Given the description of an element on the screen output the (x, y) to click on. 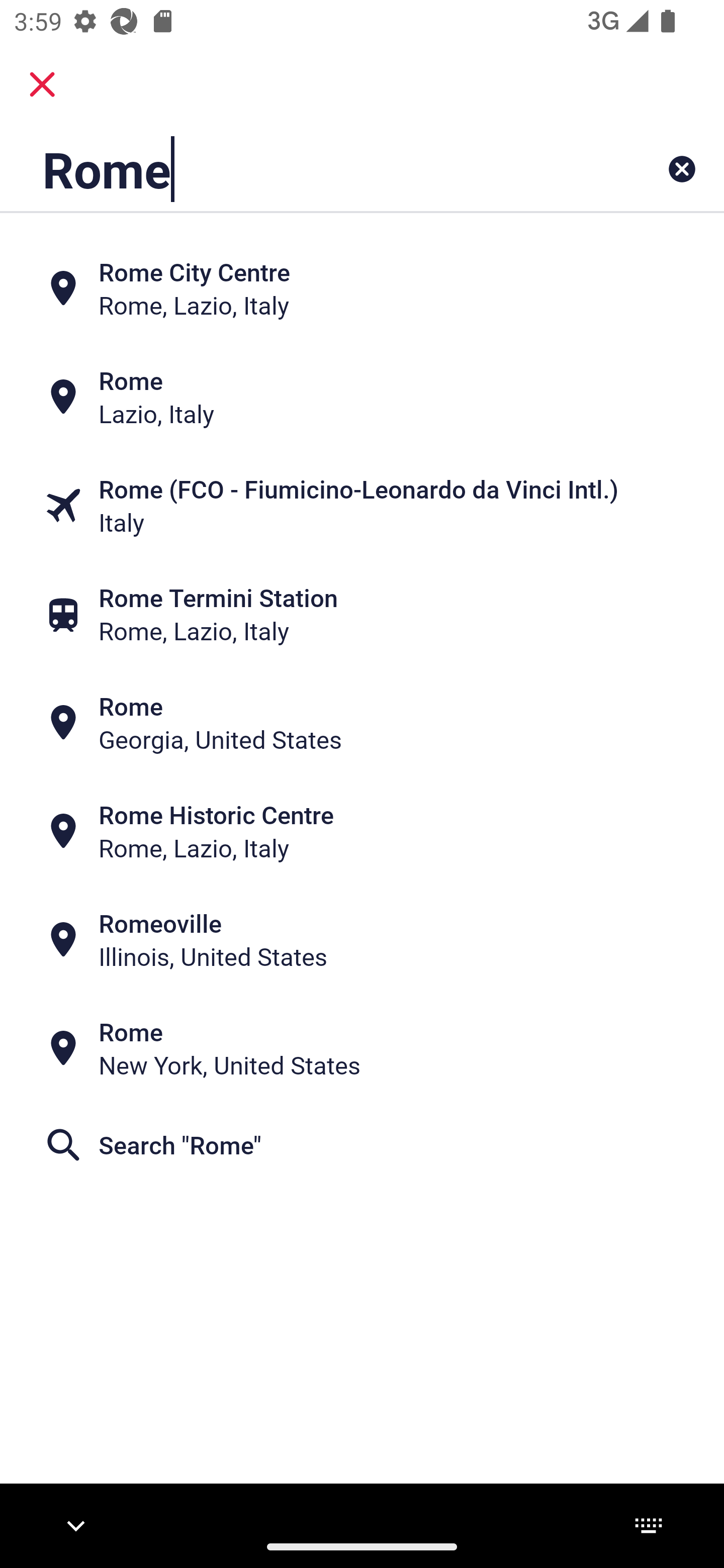
close. (42, 84)
Clear (681, 169)
Rome (298, 169)
Rome City Centre Rome, Lazio, Italy (362, 288)
Rome Lazio, Italy (362, 397)
Rome Termini Station Rome, Lazio, Italy (362, 613)
Rome Georgia, United States (362, 722)
Rome Historic Centre Rome, Lazio, Italy (362, 831)
Romeoville Illinois, United States (362, 939)
Rome New York, United States (362, 1048)
Search "Rome" (362, 1144)
